Given the description of an element on the screen output the (x, y) to click on. 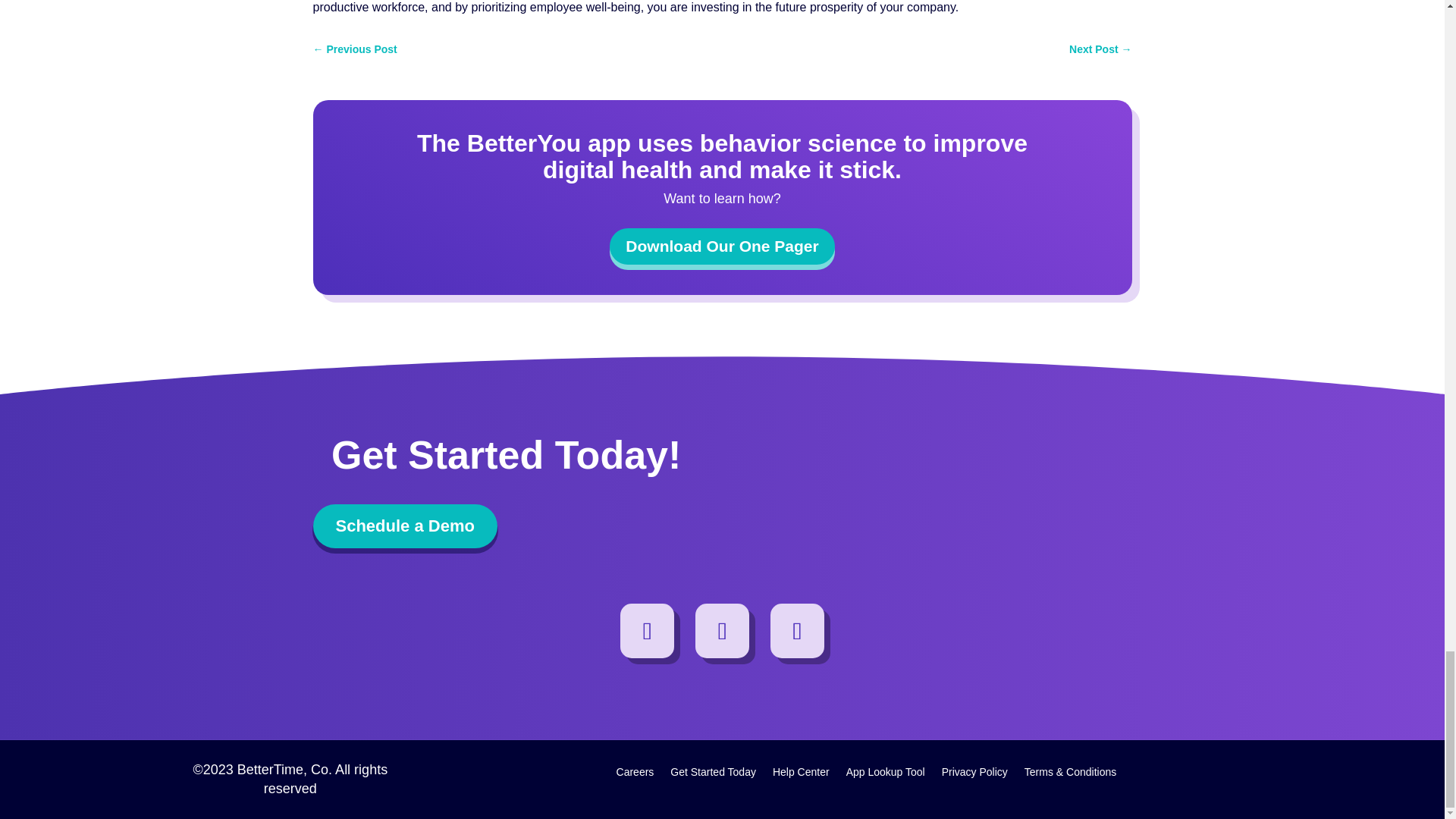
Privacy Policy (974, 774)
App Lookup Tool (884, 774)
Help Center (801, 774)
Follow on TikTok (797, 630)
Schedule a Demo (404, 525)
Follow on Instagram (647, 630)
Follow on LinkedIn (722, 630)
Careers (634, 774)
Download Our One Pager (722, 246)
Get Started Today (712, 774)
